Given the description of an element on the screen output the (x, y) to click on. 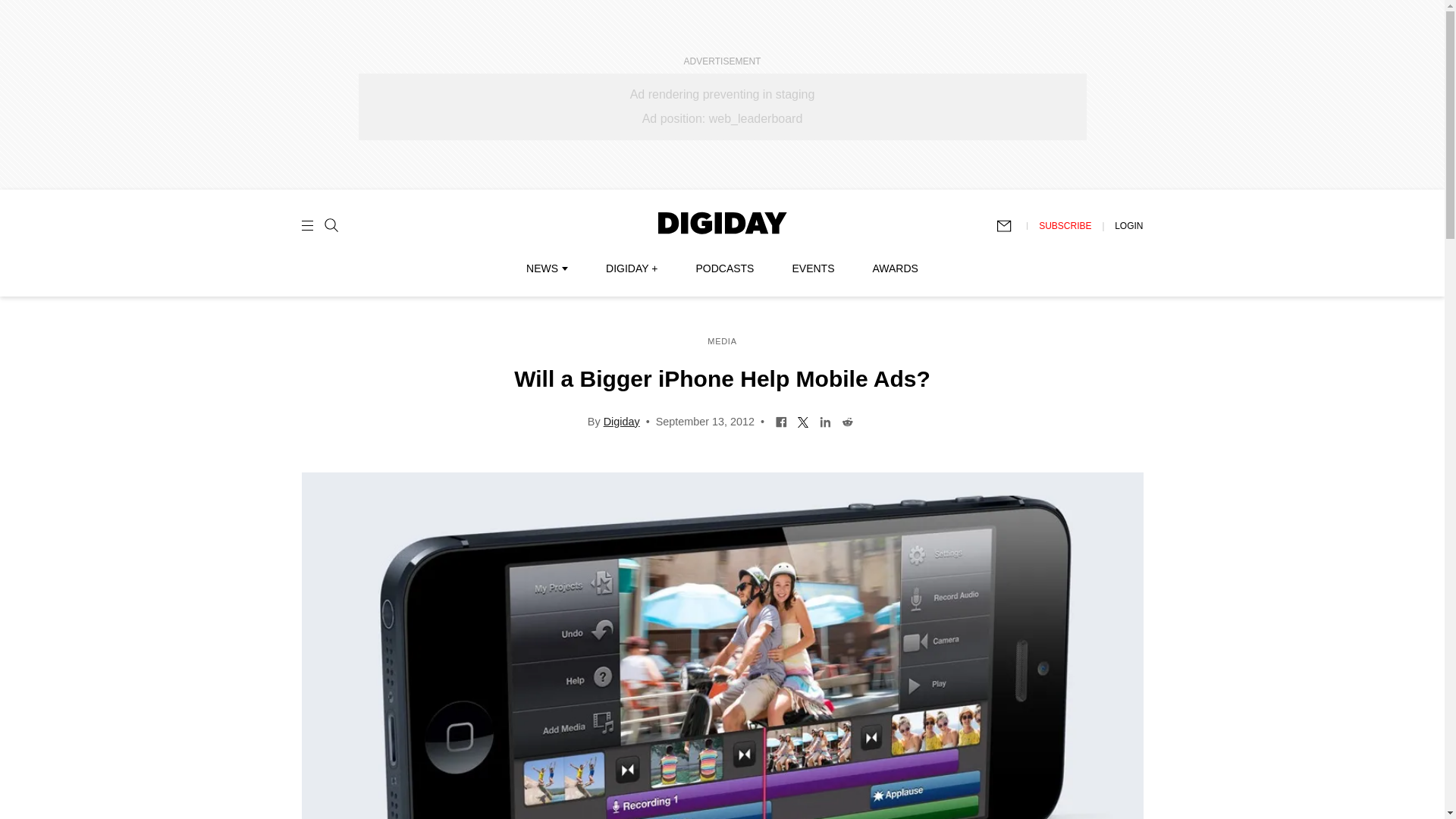
Subscribe (1010, 225)
EVENTS (813, 267)
LOGIN (1128, 225)
AWARDS (894, 267)
SUBSCRIBE (1064, 225)
Share on LinkedIn (824, 420)
Share on Reddit (847, 420)
NEWS (546, 267)
PODCASTS (725, 267)
Share on Facebook (780, 420)
Share on Twitter (802, 420)
